Given the description of an element on the screen output the (x, y) to click on. 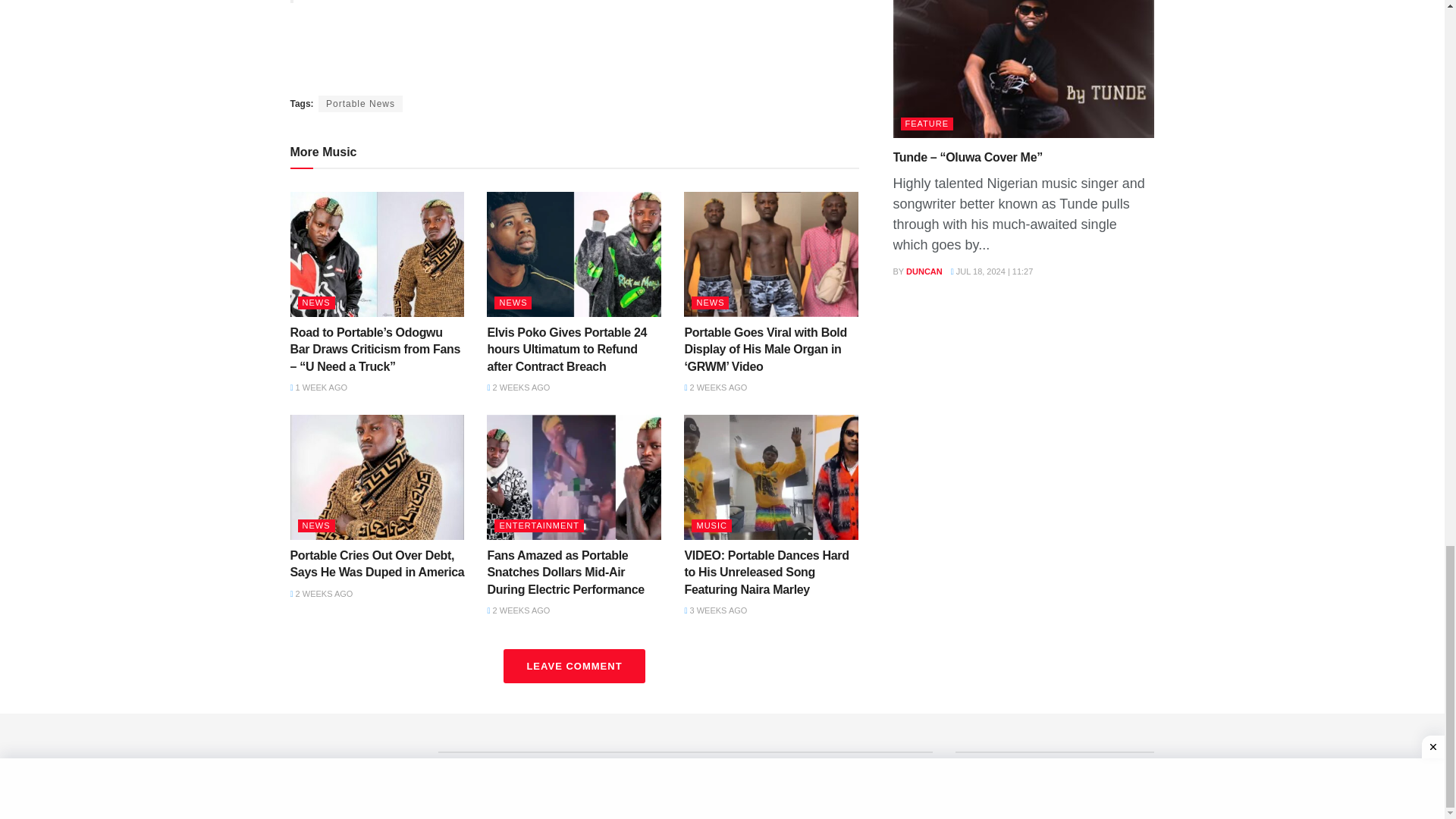
Artists (502, 776)
